Given the description of an element on the screen output the (x, y) to click on. 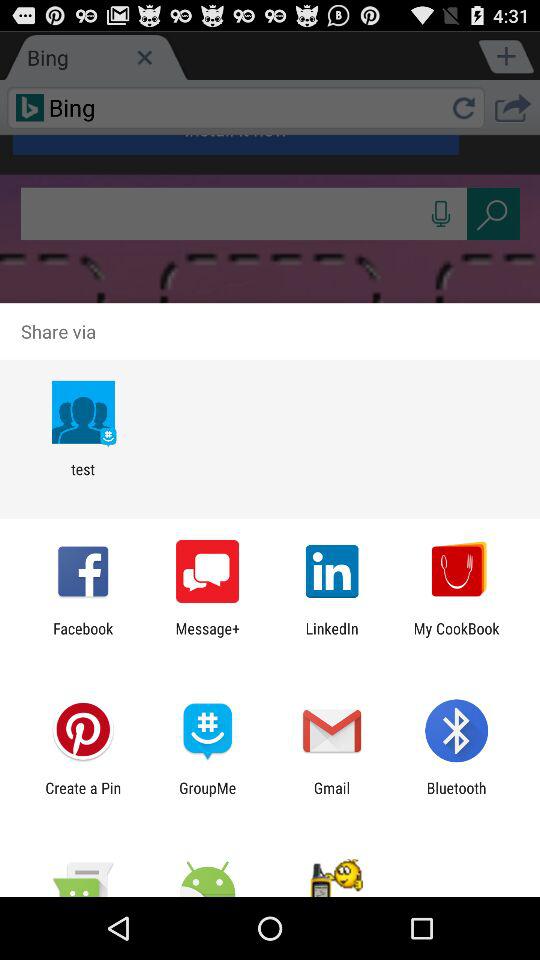
select the item to the right of message+ app (331, 637)
